Given the description of an element on the screen output the (x, y) to click on. 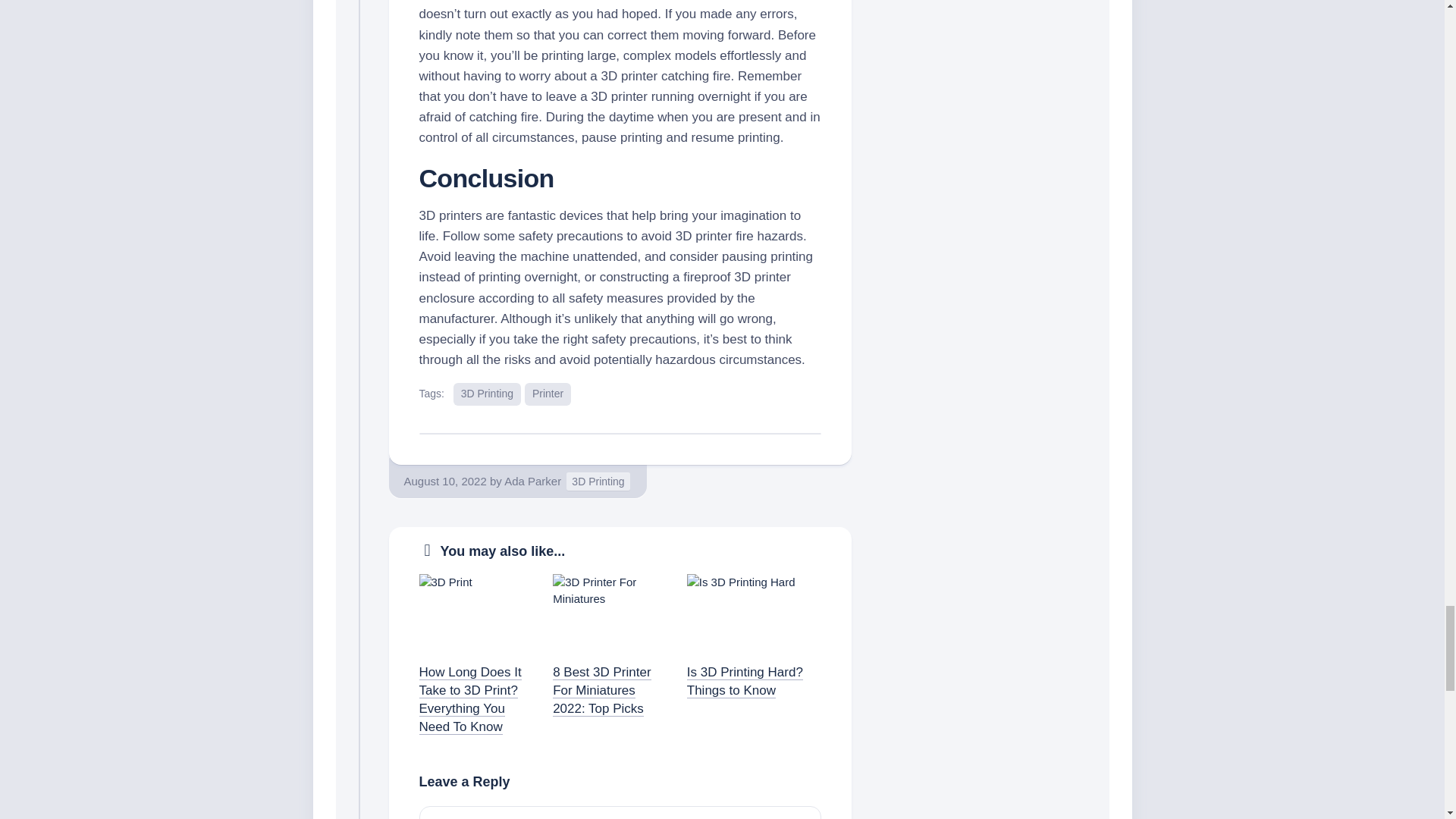
Posts by Ada Parker (531, 481)
